Given the description of an element on the screen output the (x, y) to click on. 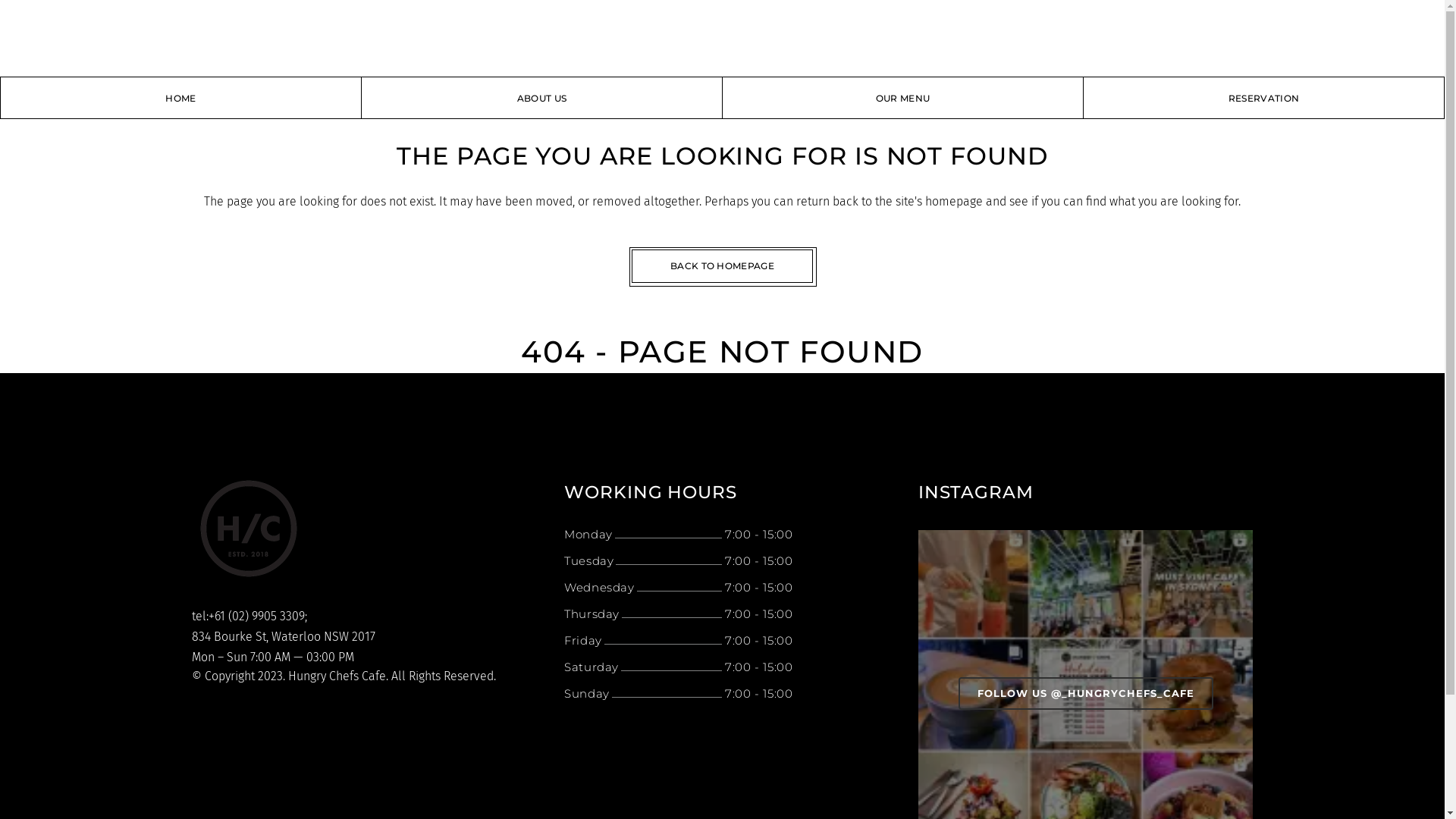
; Element type: text (305, 615)
tel:+61 ( Element type: text (211, 615)
HOME Element type: text (180, 99)
BACK TO HOMEPAGE Element type: text (721, 265)
ABOUT US Element type: text (542, 99)
OUR MENU Element type: text (902, 99)
FOLLOW US @_HUNGRYCHEFS_CAFE Element type: text (1085, 692)
RESERVATION Element type: text (1263, 99)
834 Bourke St, Waterloo NSW 2017 Element type: text (282, 636)
02) 9905 3309 Element type: text (268, 615)
